Given the description of an element on the screen output the (x, y) to click on. 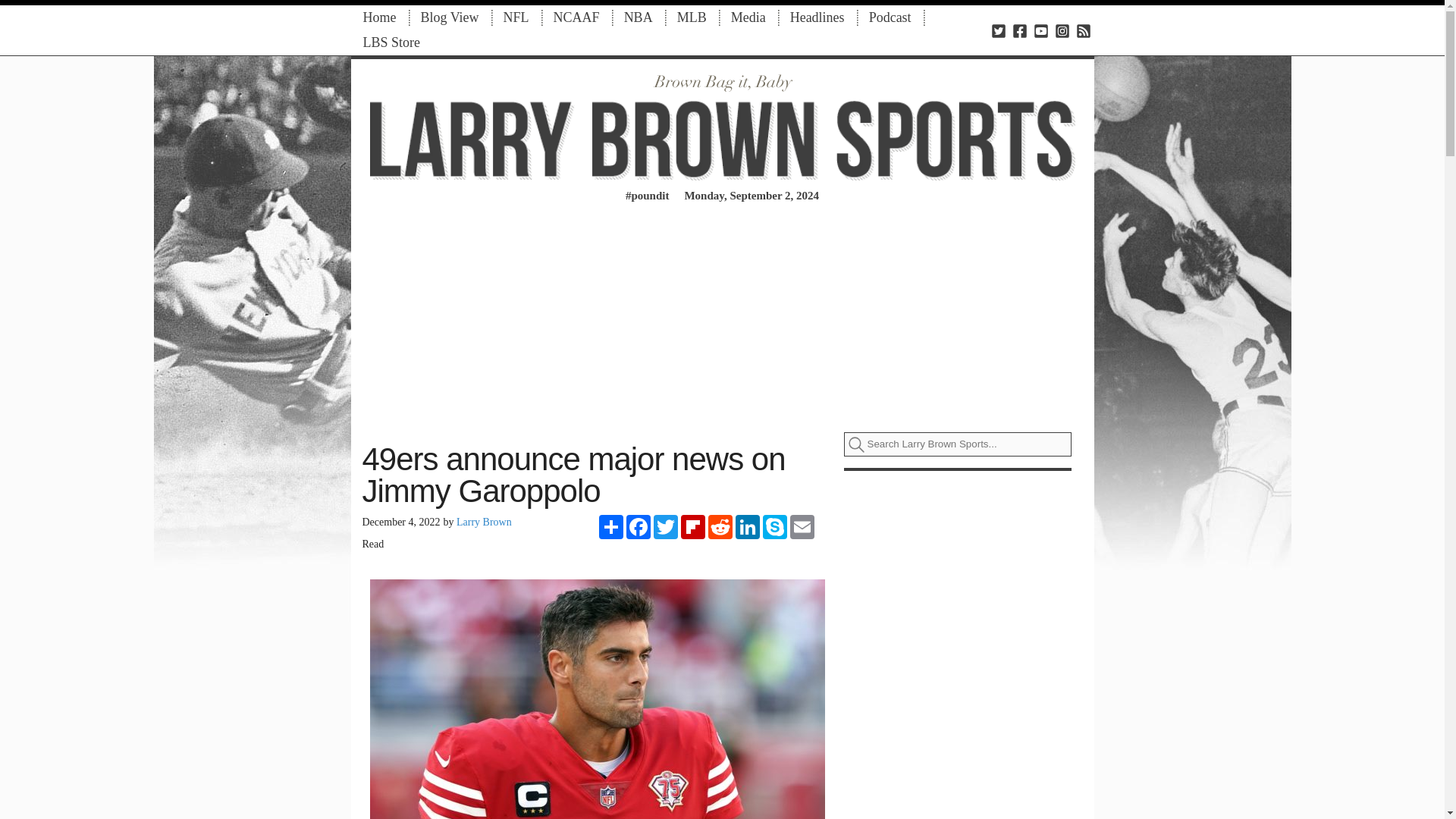
Facebook (638, 526)
Blog View (448, 17)
Headlines (817, 17)
MLB (692, 17)
View Larry Brown Sports Facebook (1018, 29)
Twitter (665, 526)
NCAAF (576, 17)
View Larry Brown Sports Youtube (1040, 29)
NBA (638, 17)
View Larry Brown Sports Twitter (998, 29)
